Given the description of an element on the screen output the (x, y) to click on. 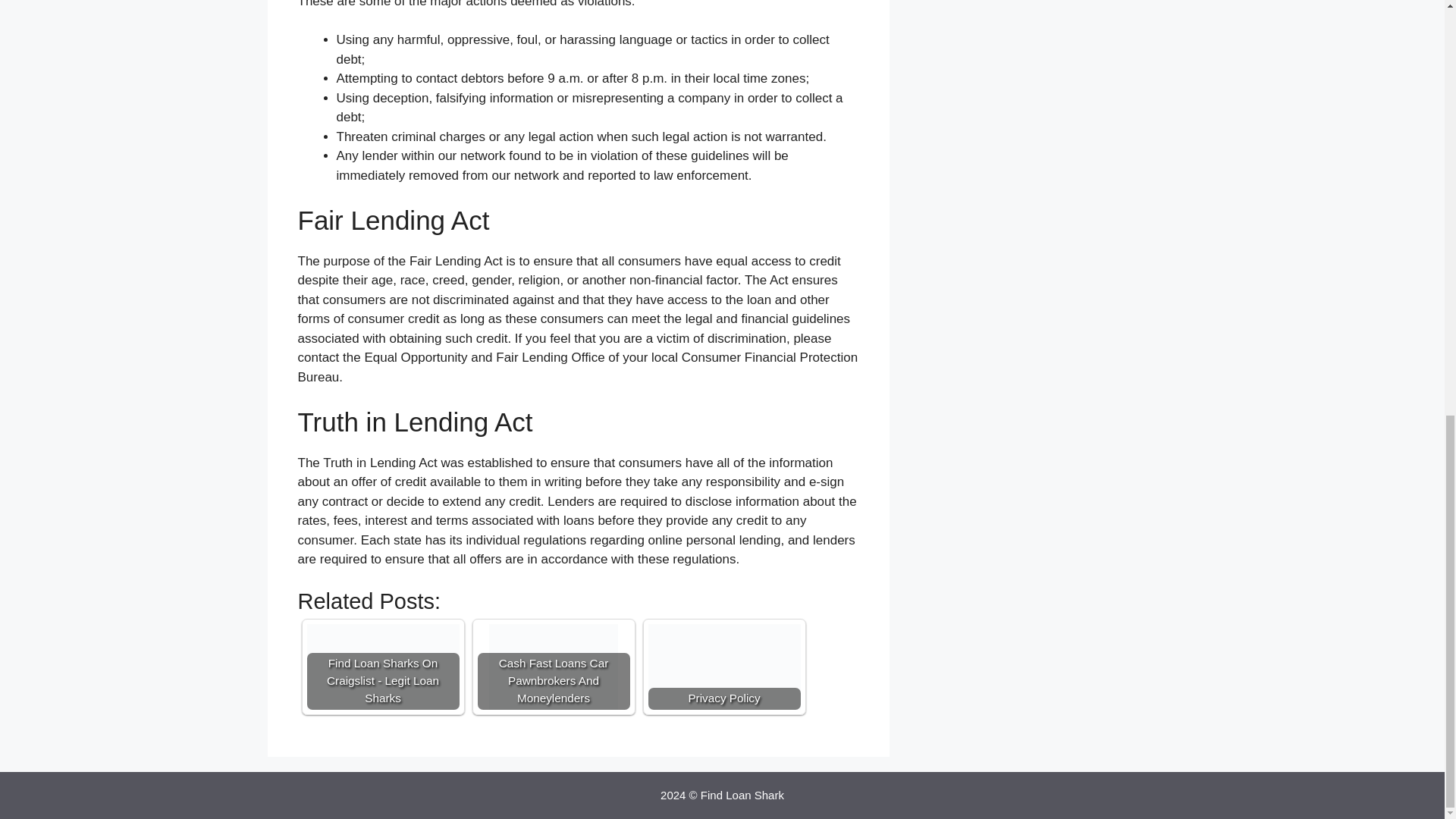
Find Loan Shark (742, 794)
Cash Fast Loans Car Pawnbrokers And Moneylenders (553, 667)
Find Loan Sharks On Craigslist - Legit Loan Sharks (381, 667)
Find Loan Sharks On Craigslist - Legit Loan Sharks (381, 667)
Cash Fast Loans Car Pawnbrokers And Moneylenders (553, 667)
Privacy Policy (723, 667)
Privacy Policy (723, 667)
